Given the description of an element on the screen output the (x, y) to click on. 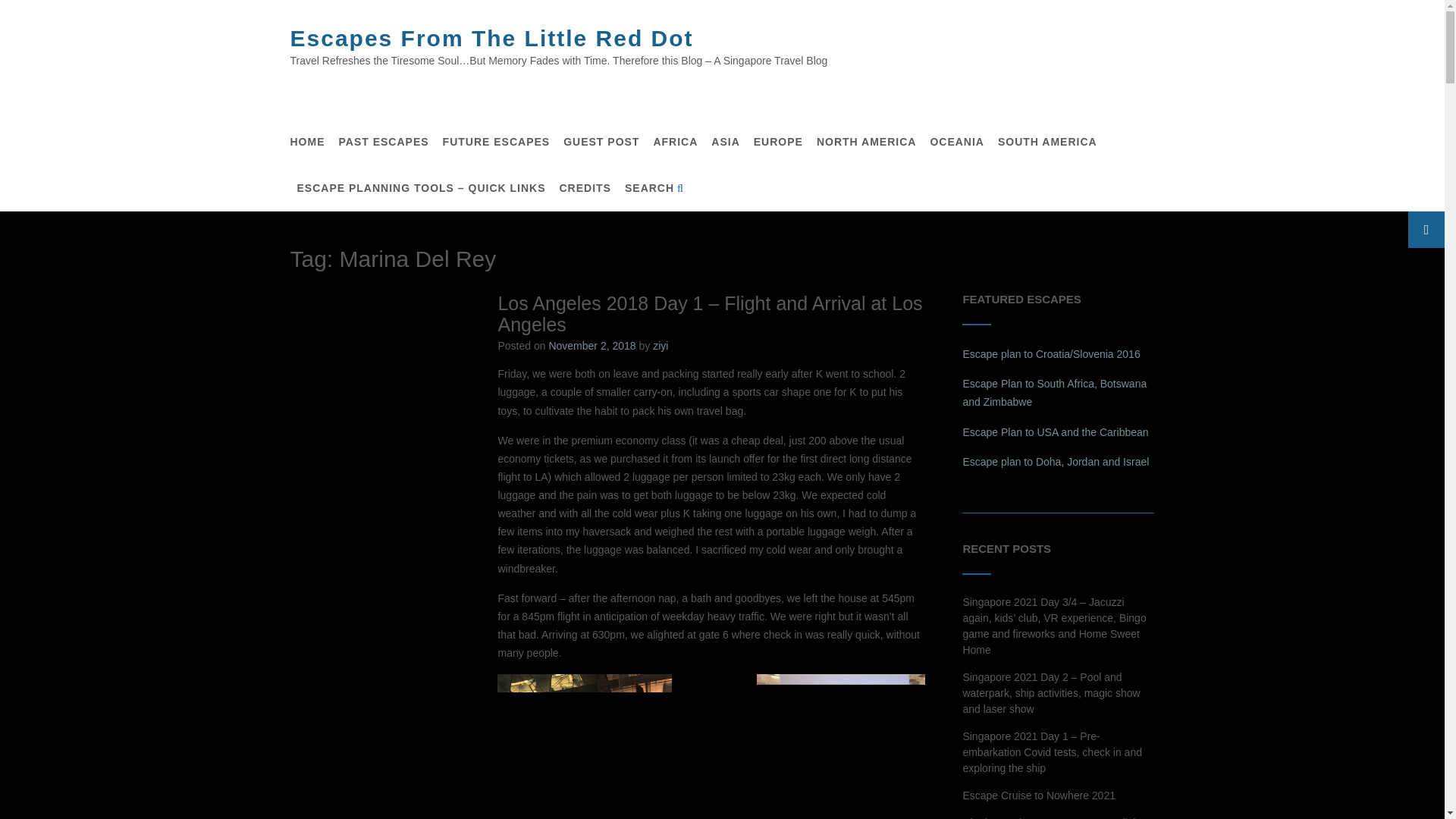
HOME (306, 141)
ASIA (725, 141)
FUTURE ESCAPES (496, 141)
AFRICA (674, 141)
GUEST POST (601, 141)
Escapes From The Little Red Dot (491, 38)
EUROPE (778, 141)
PAST ESCAPES (382, 141)
Escapes From The Little Red Dot (491, 38)
